Given the description of an element on the screen output the (x, y) to click on. 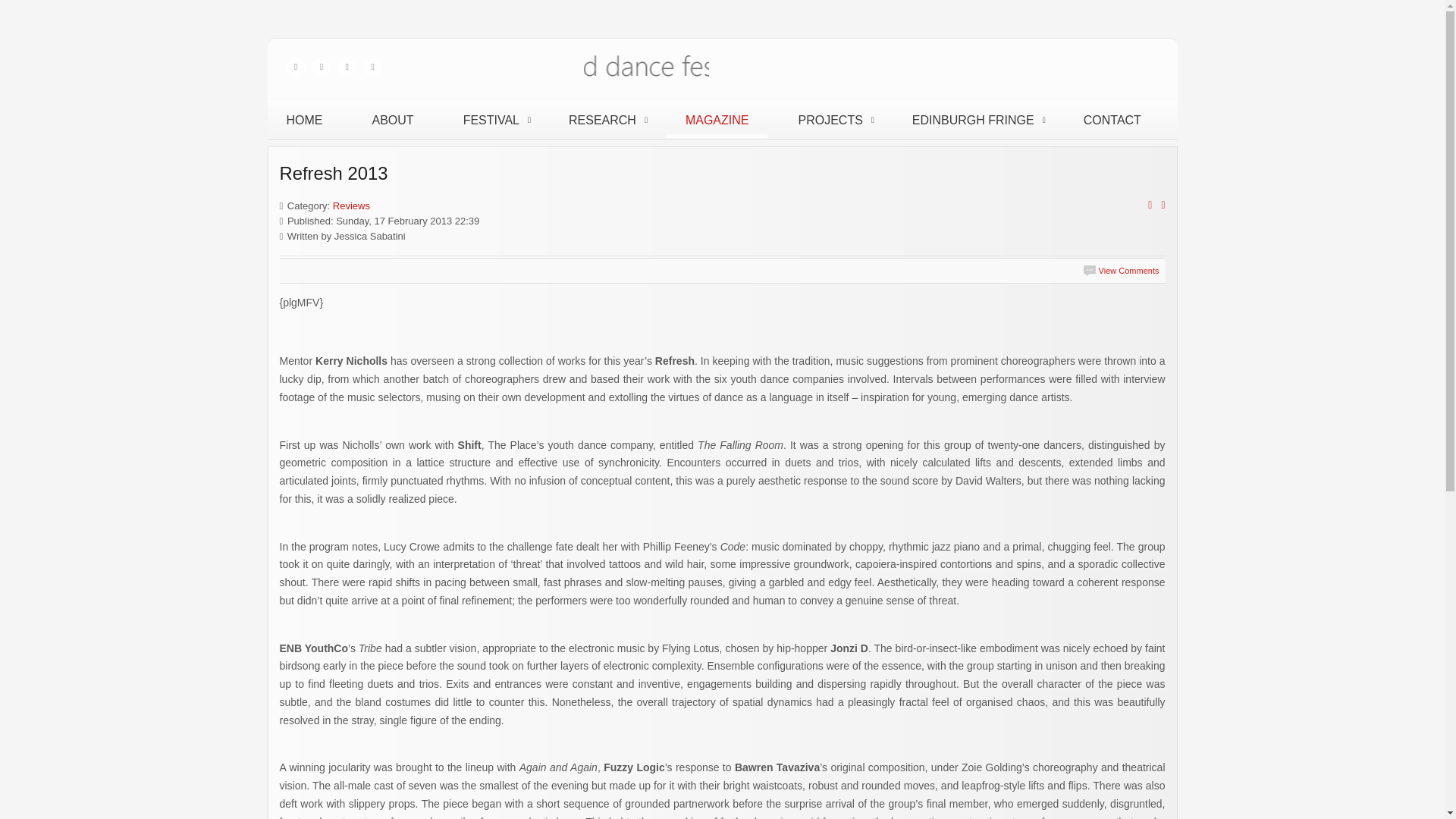
Add a comment (1120, 270)
HOME (303, 120)
FESTIVAL (491, 120)
ABOUT (392, 120)
